Given the description of an element on the screen output the (x, y) to click on. 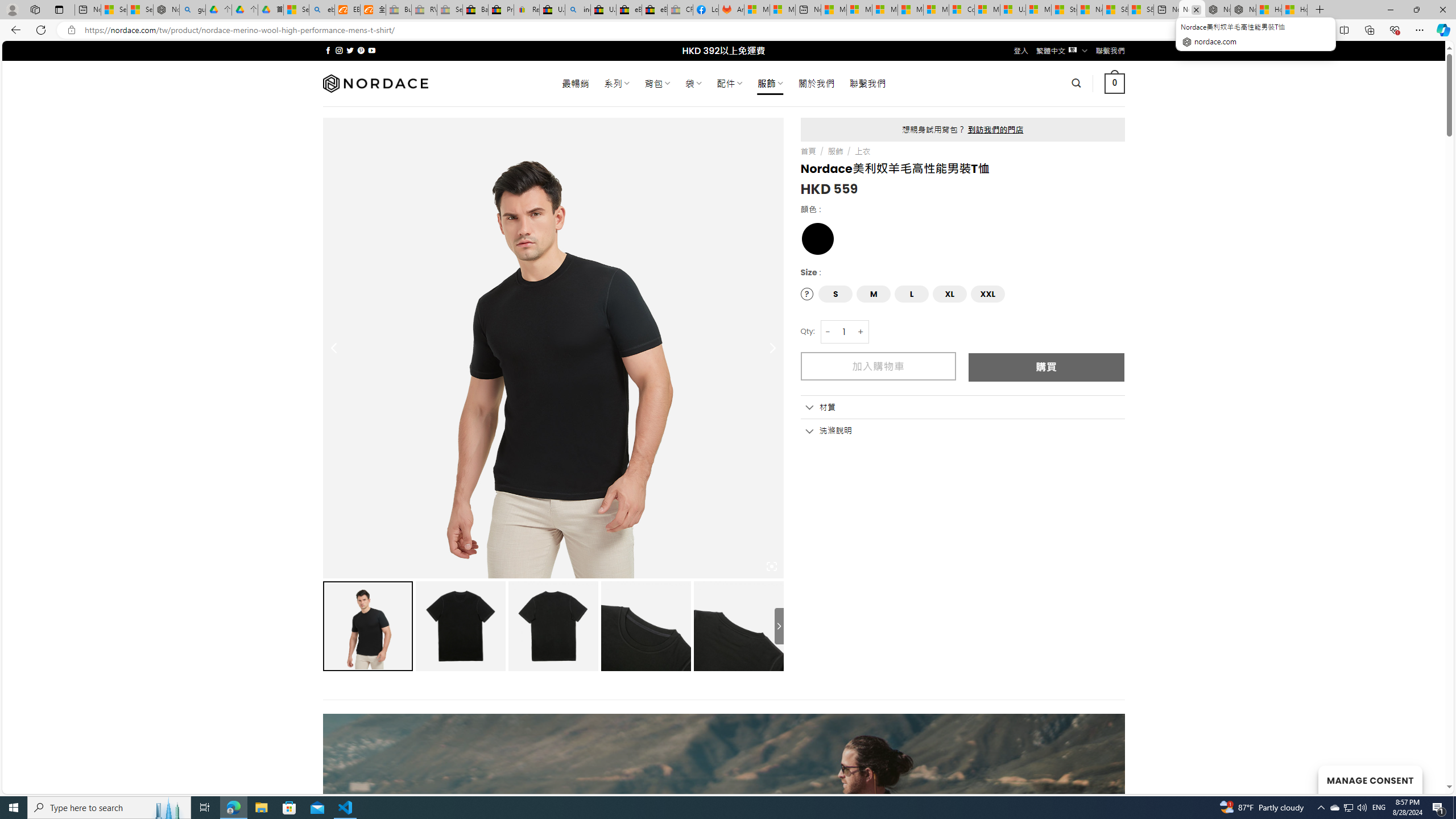
Collections (1369, 29)
ebay - Search (321, 9)
Close tab (1196, 9)
Buy Auto Parts & Accessories | eBay - Sleeping (398, 9)
This site has coupons! Shopping in Microsoft Edge (1268, 29)
Show translate options (1245, 29)
Register: Create a personal eBay account (526, 9)
Class: iconic-woothumbs-fullscreen (771, 566)
MANAGE CONSENT (1369, 779)
